Given the description of an element on the screen output the (x, y) to click on. 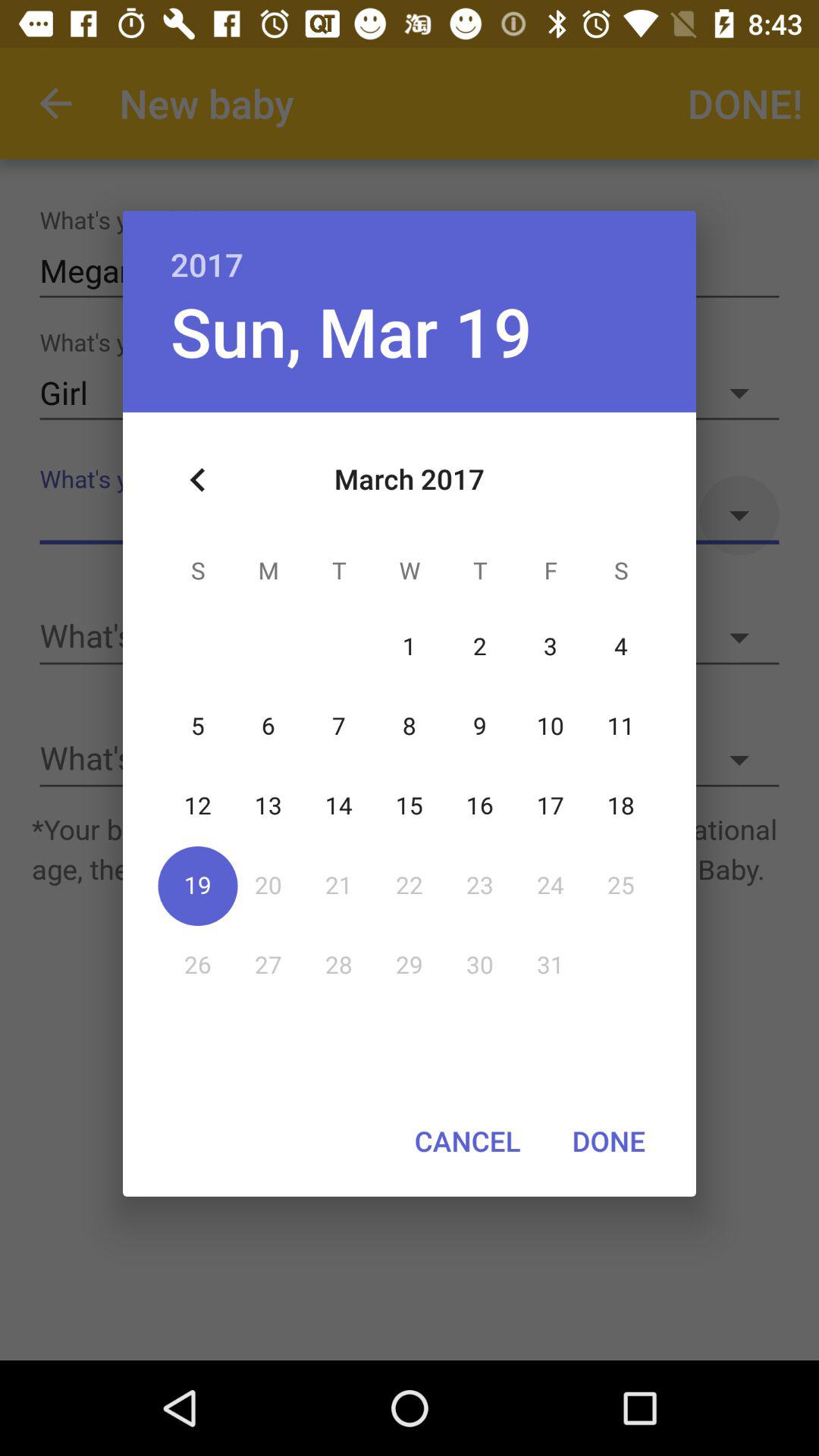
flip until done item (608, 1140)
